Given the description of an element on the screen output the (x, y) to click on. 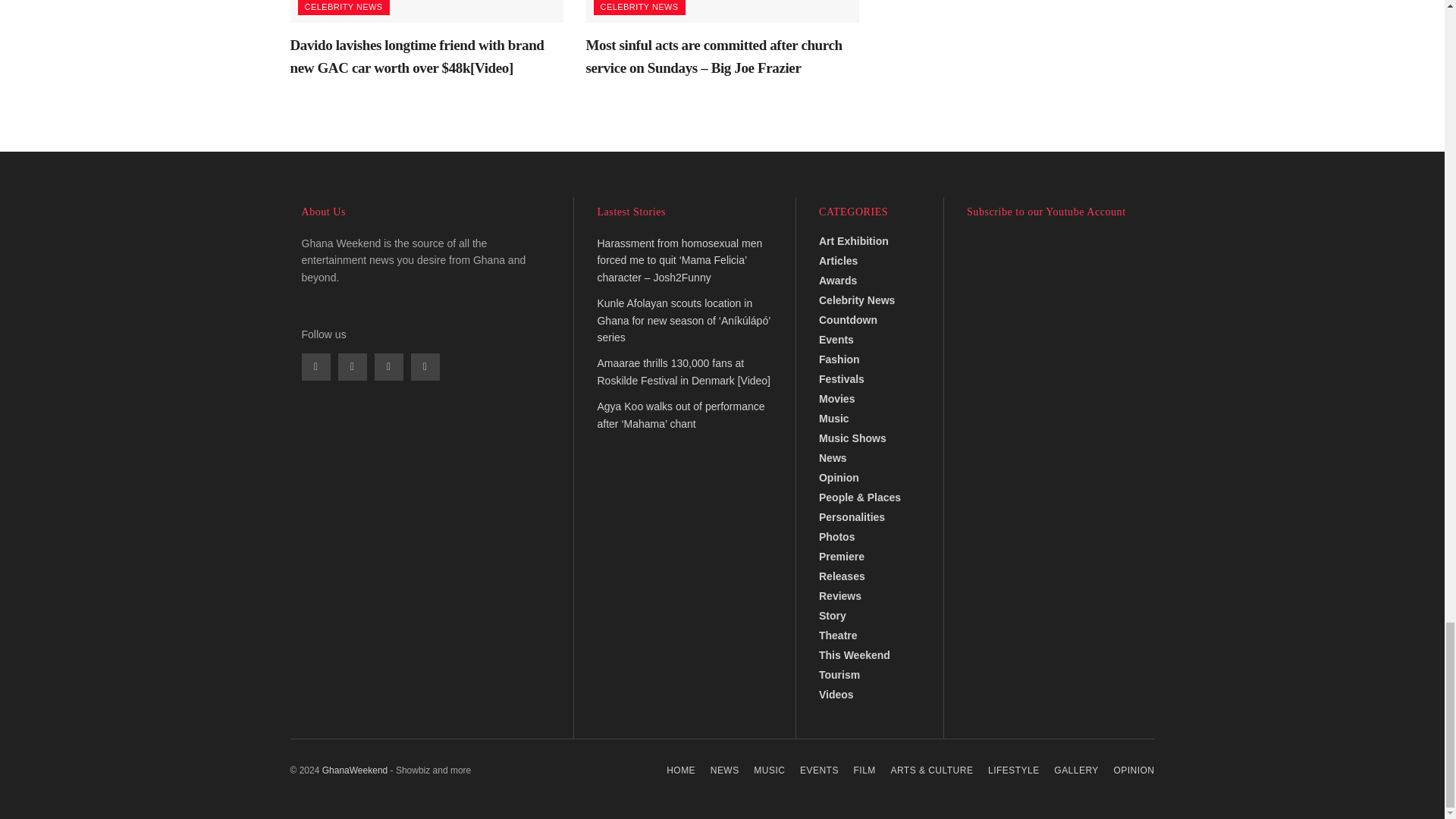
Ghanaweekend.com (354, 769)
